Given the description of an element on the screen output the (x, y) to click on. 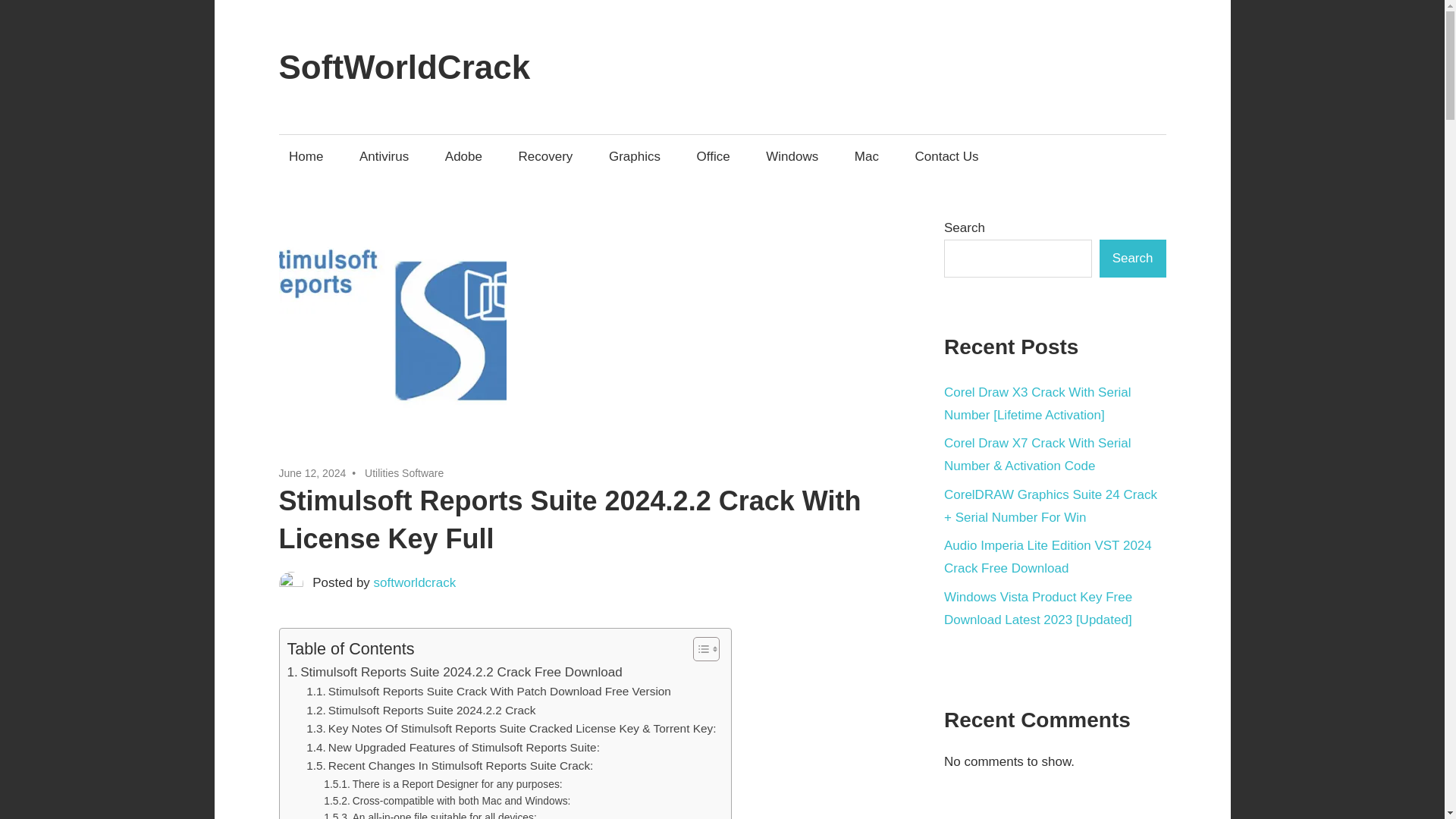
Stimulsoft Reports Suite 2024.2.2 Crack (420, 710)
2:21 am (312, 472)
Mac (866, 156)
View all posts by softworldcrack (415, 582)
Stimulsoft Reports Suite 2024.2.2 Crack Free Download (453, 671)
softworldcrack (415, 582)
Contact Us (946, 156)
Cross-compatible with both Mac and Windows: (446, 800)
There is a Report Designer for any purposes: (442, 783)
Recent Changes In Stimulsoft Reports Suite Crack: (448, 765)
